Given the description of an element on the screen output the (x, y) to click on. 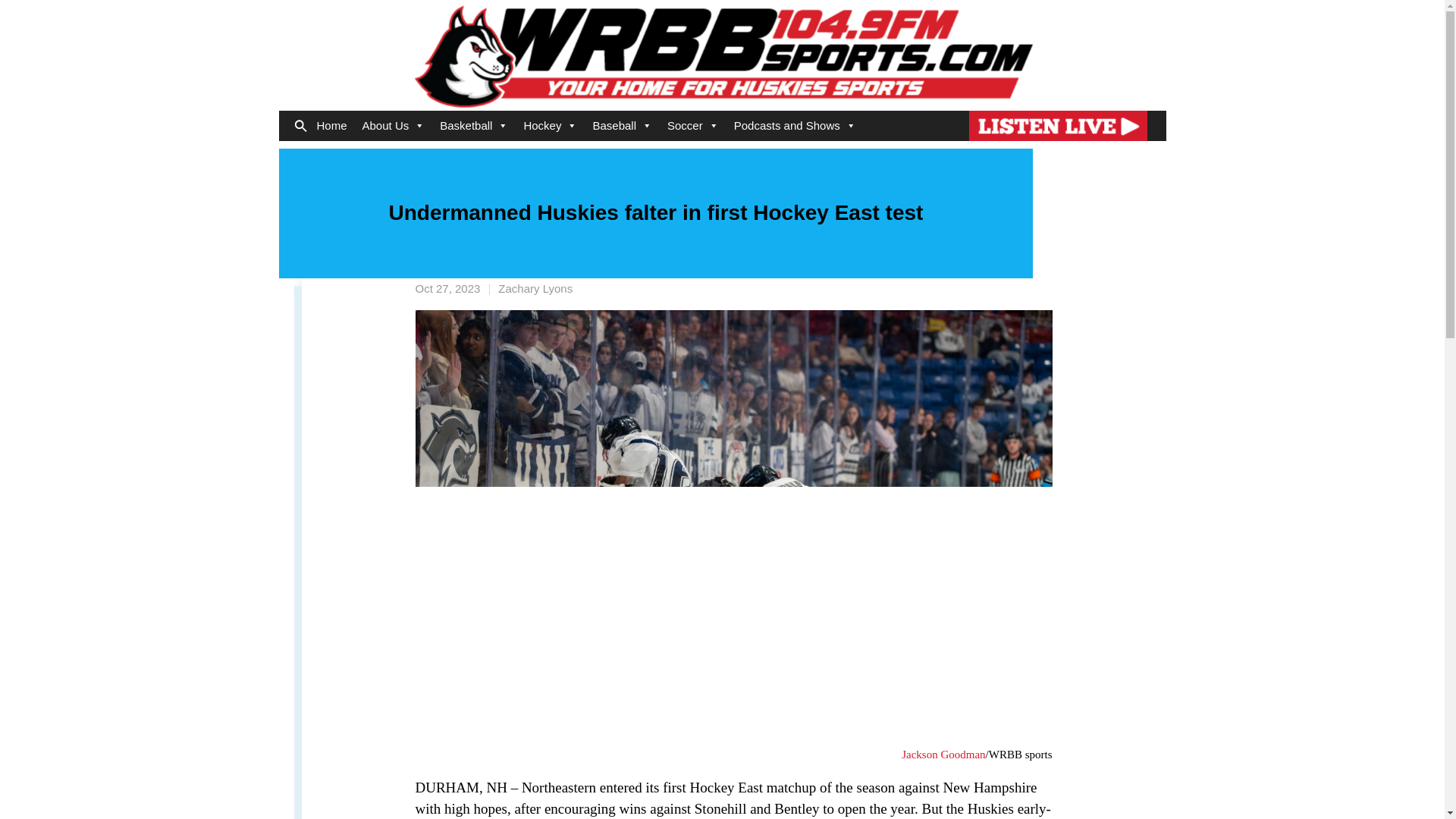
Home (331, 125)
About Us (393, 125)
View all posts by Zachary Lyons (534, 287)
Soccer (692, 125)
Hockey (550, 125)
Podcasts and Shows (794, 125)
Undermanned Huskies falter in first Hockey East test (447, 287)
Basketball (473, 125)
Baseball (622, 125)
